Given the description of an element on the screen output the (x, y) to click on. 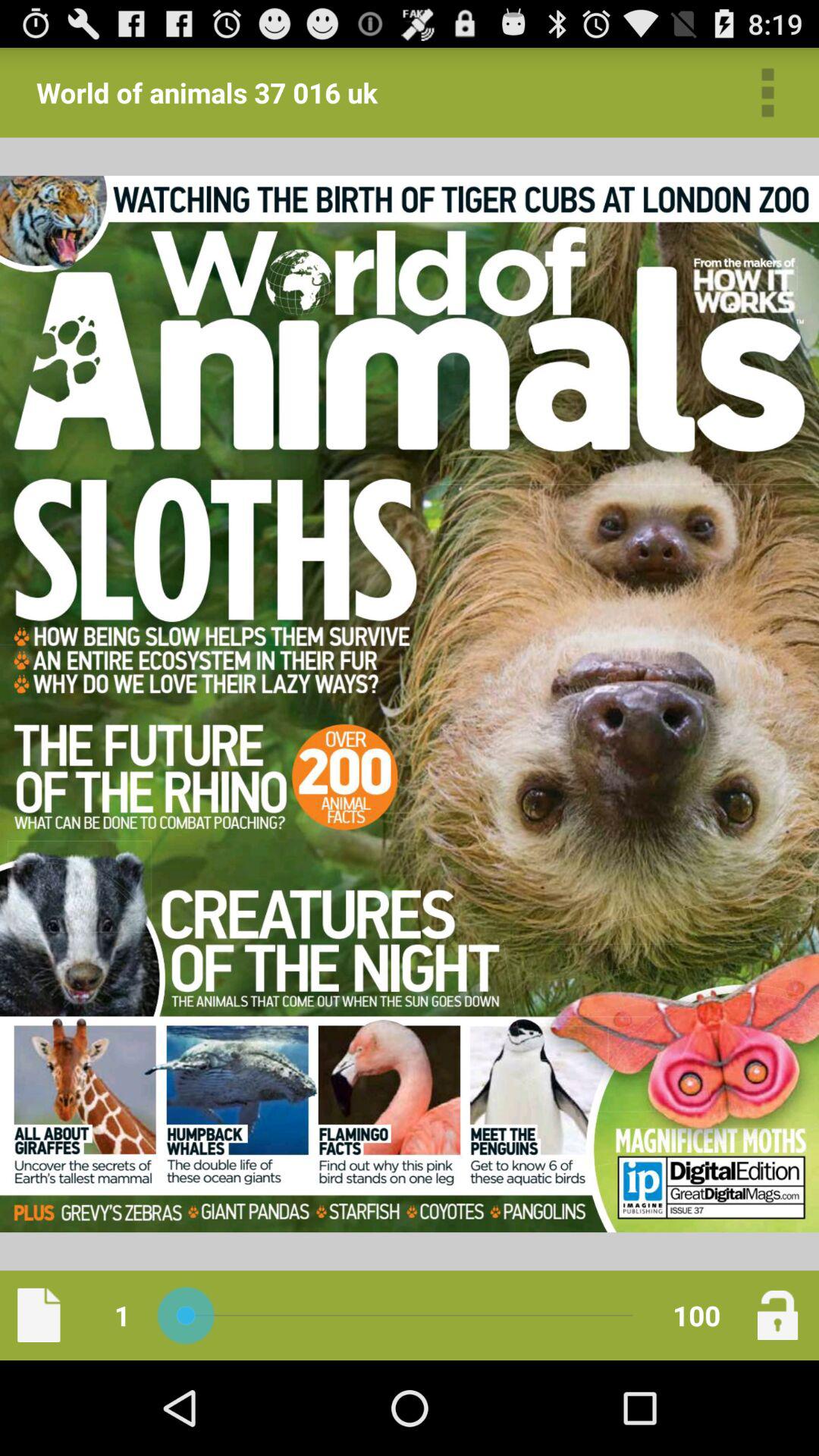
go to lock (777, 1315)
